Given the description of an element on the screen output the (x, y) to click on. 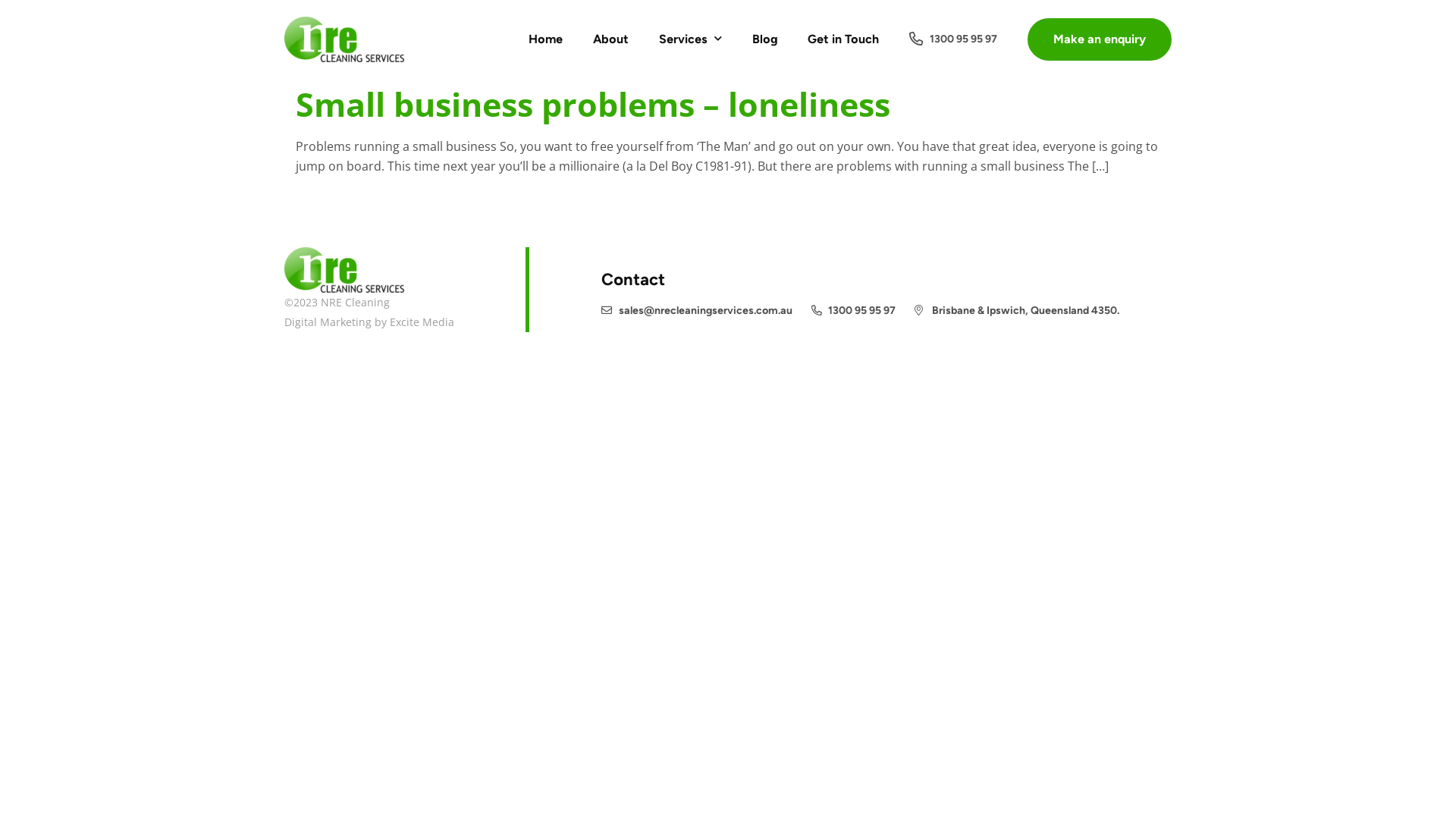
About Element type: text (610, 39)
sales@nrecleaningservices.com.au Element type: text (696, 310)
Make an enquiry Element type: text (1099, 39)
Blog Element type: text (764, 39)
Digital Marketing Element type: text (327, 321)
1300 95 95 97 Element type: text (952, 39)
1300 95 95 97 Element type: text (853, 310)
Home Element type: text (544, 39)
Get in Touch Element type: text (842, 39)
Services Element type: text (689, 39)
